Given the description of an element on the screen output the (x, y) to click on. 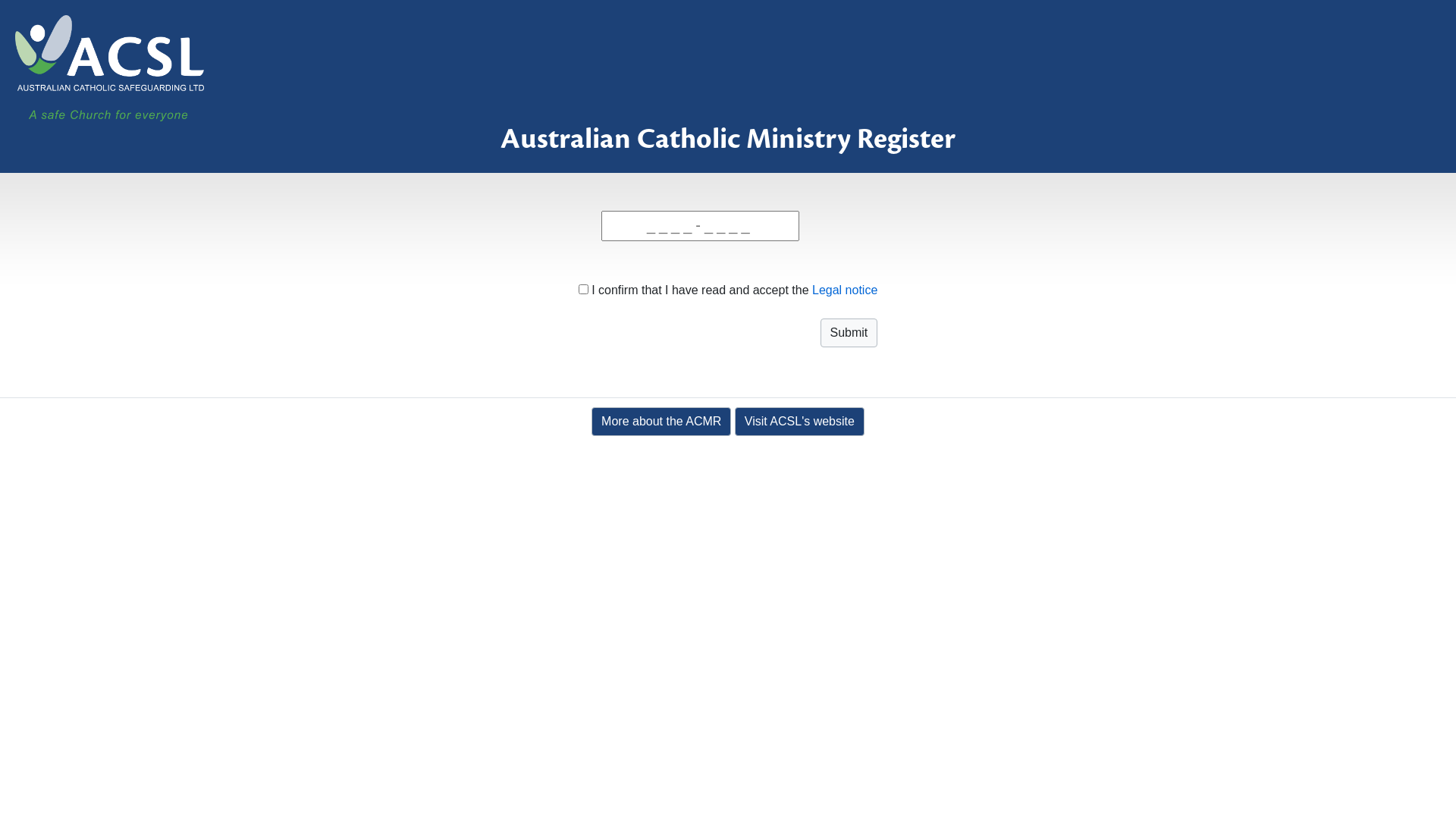
Visit ACSL's website Element type: text (799, 420)
More about the ACMR Element type: text (661, 420)
Legal notice Element type: text (844, 289)
Submit Element type: text (849, 332)
